Given the description of an element on the screen output the (x, y) to click on. 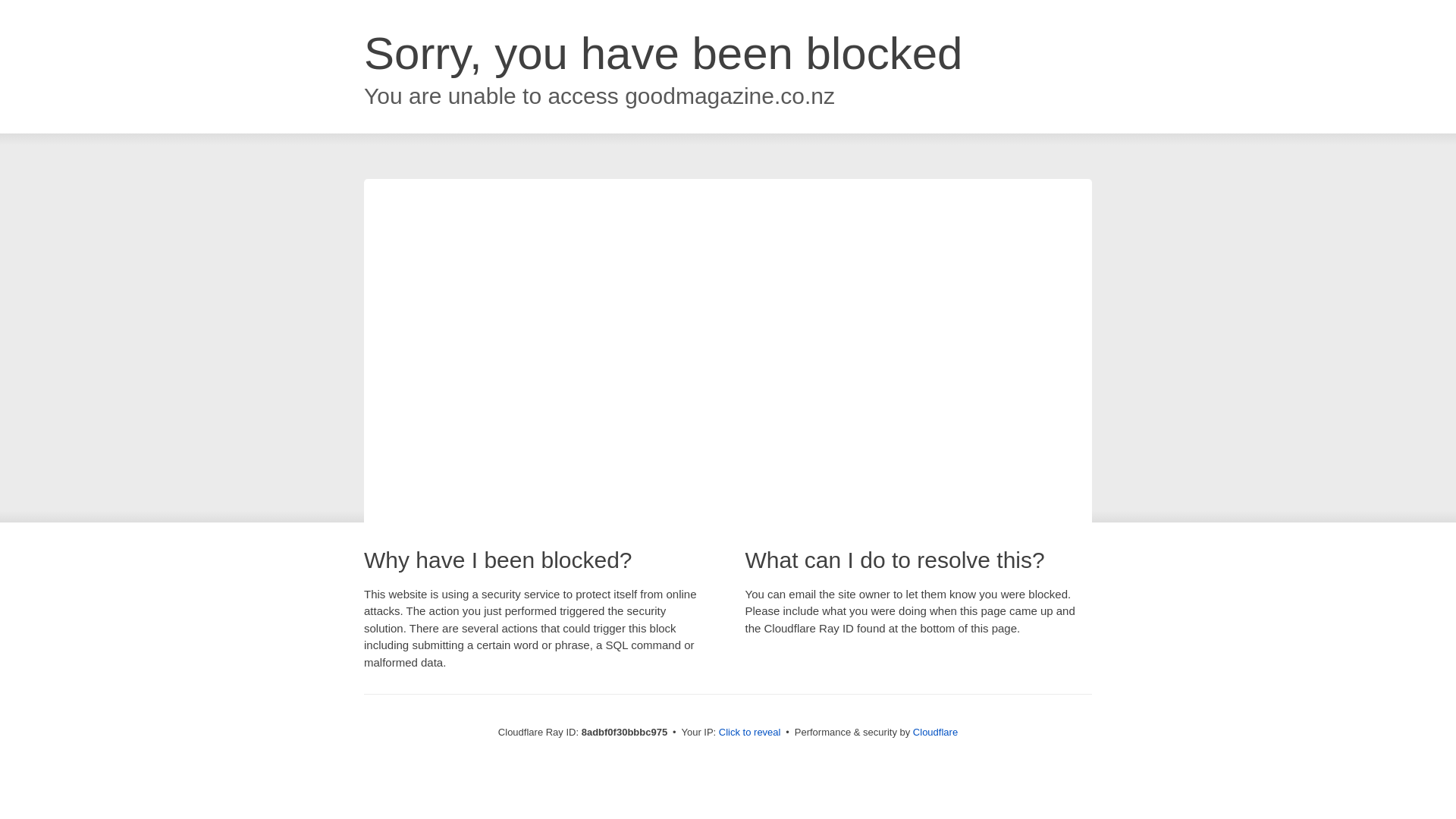
Click to reveal (749, 732)
Cloudflare (935, 731)
